Given the description of an element on the screen output the (x, y) to click on. 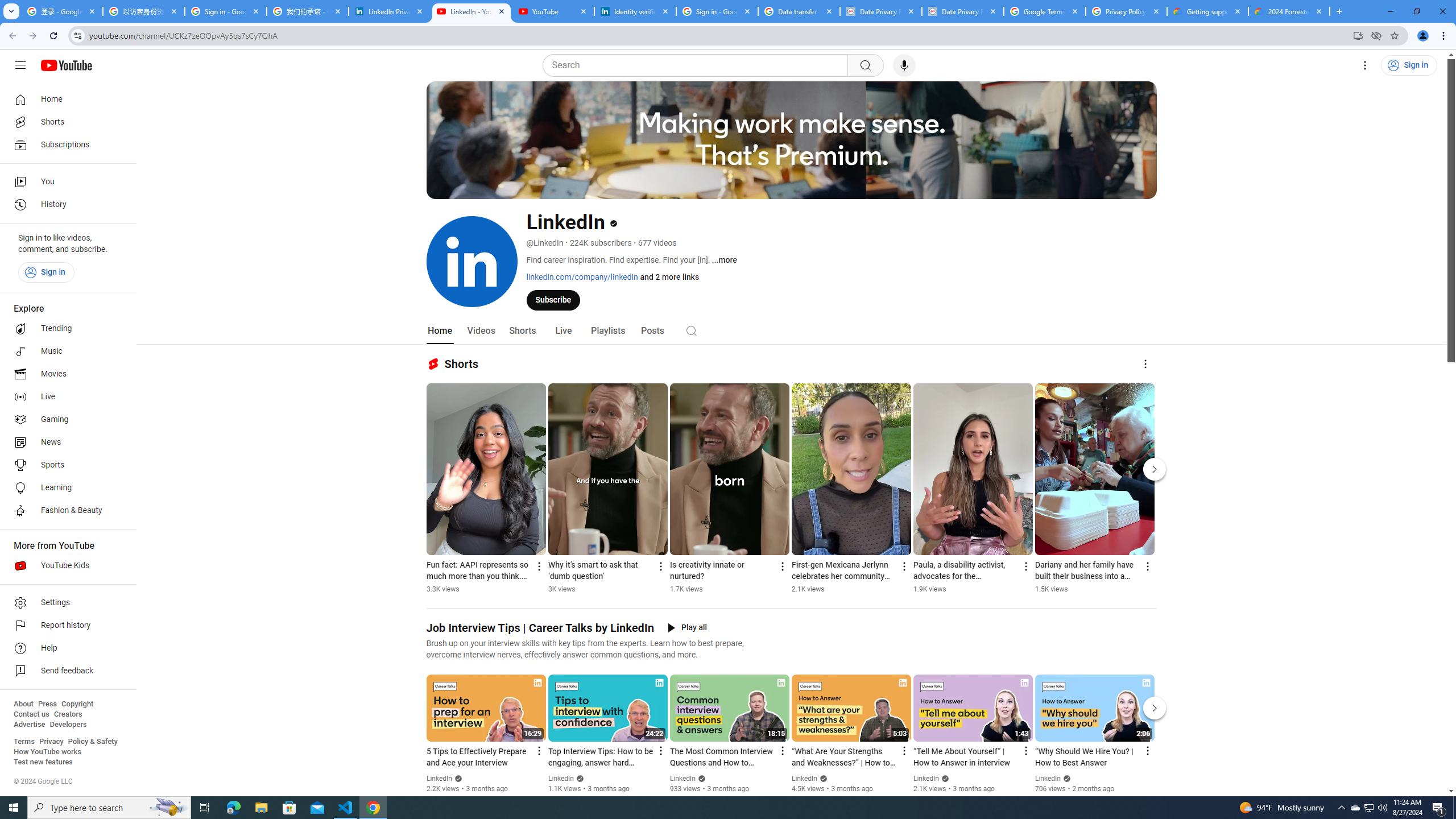
YouTube Home (66, 65)
How YouTube works (47, 751)
Next (1154, 707)
Live (562, 330)
Sign in (45, 272)
More actions (1146, 566)
Creators (67, 714)
Job Interview Tips | Career Talks by LinkedIn (539, 627)
Data Privacy Framework (963, 11)
LinkedIn (1048, 778)
Address and search bar (717, 35)
